Given the description of an element on the screen output the (x, y) to click on. 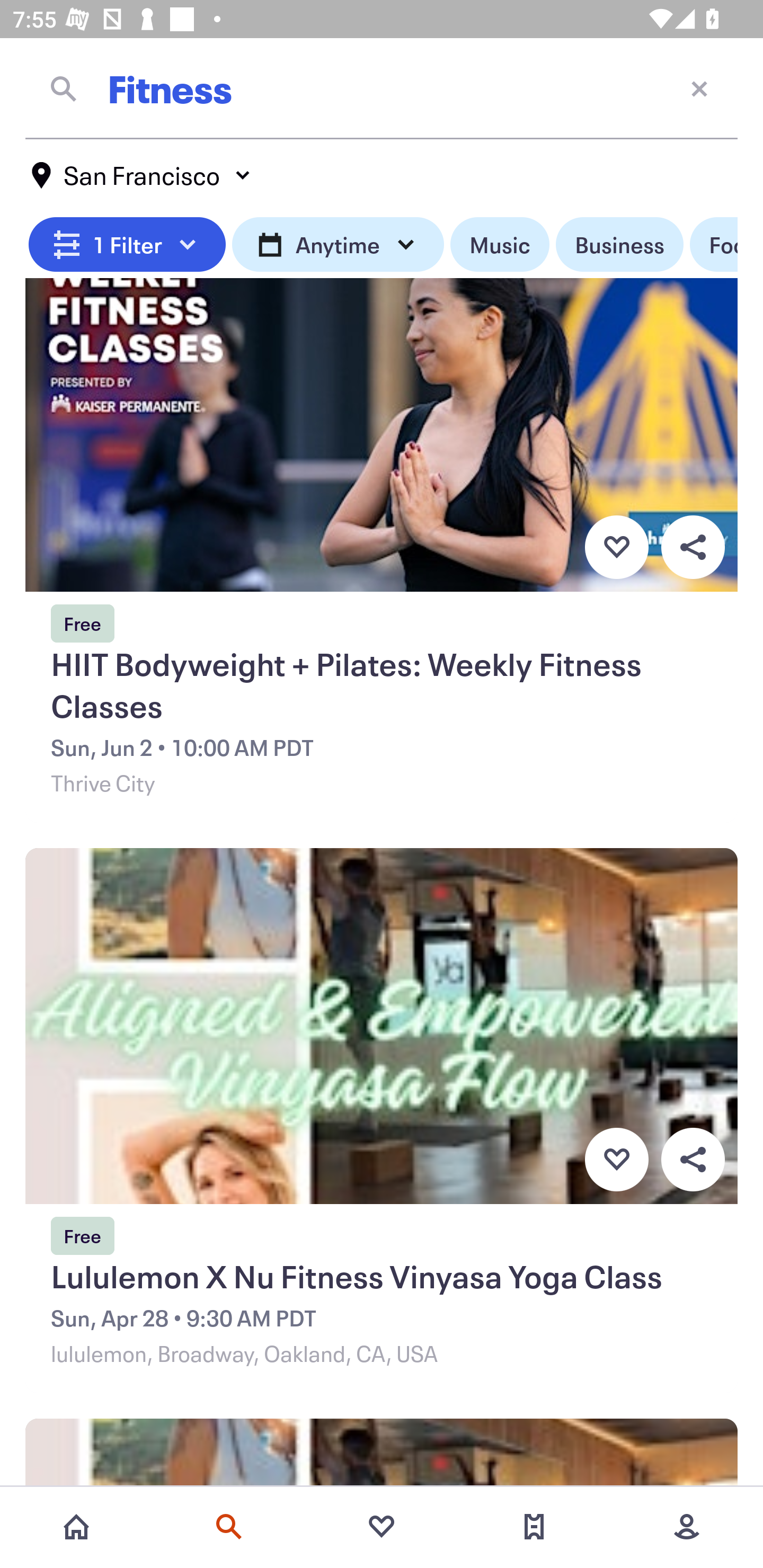
Fitness Close current screen (381, 88)
Close current screen (699, 88)
San Francisco (141, 175)
Favorite button (616, 546)
Overflow menu button (692, 546)
Favorite button (616, 1159)
Overflow menu button (692, 1159)
Home (76, 1526)
Search events (228, 1526)
Favorites (381, 1526)
Tickets (533, 1526)
More (686, 1526)
